Given the description of an element on the screen output the (x, y) to click on. 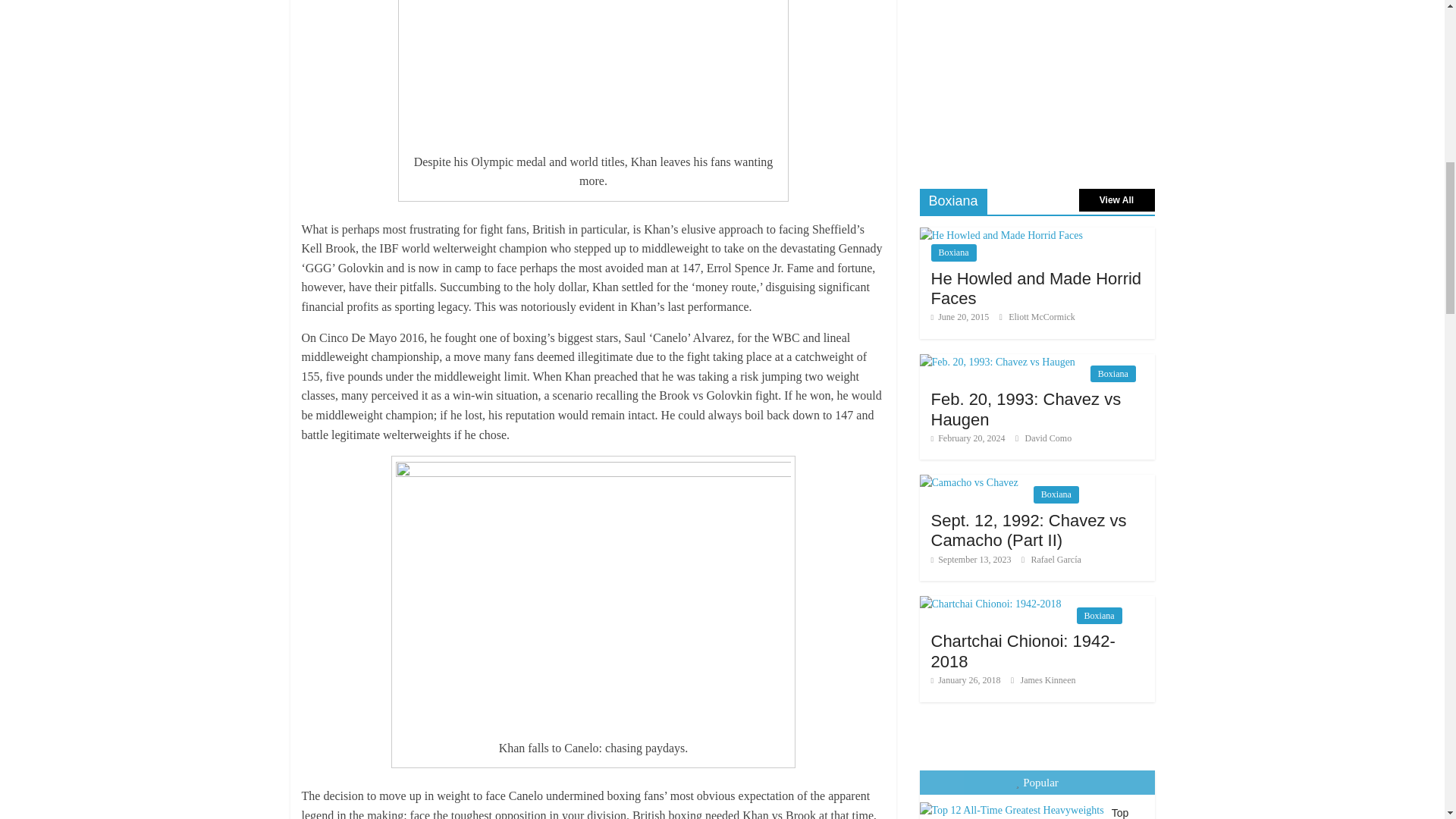
View All (1116, 200)
He Howled and Made Horrid Faces (1036, 288)
June 20, 2015 (960, 317)
Boxiana (953, 252)
